Given the description of an element on the screen output the (x, y) to click on. 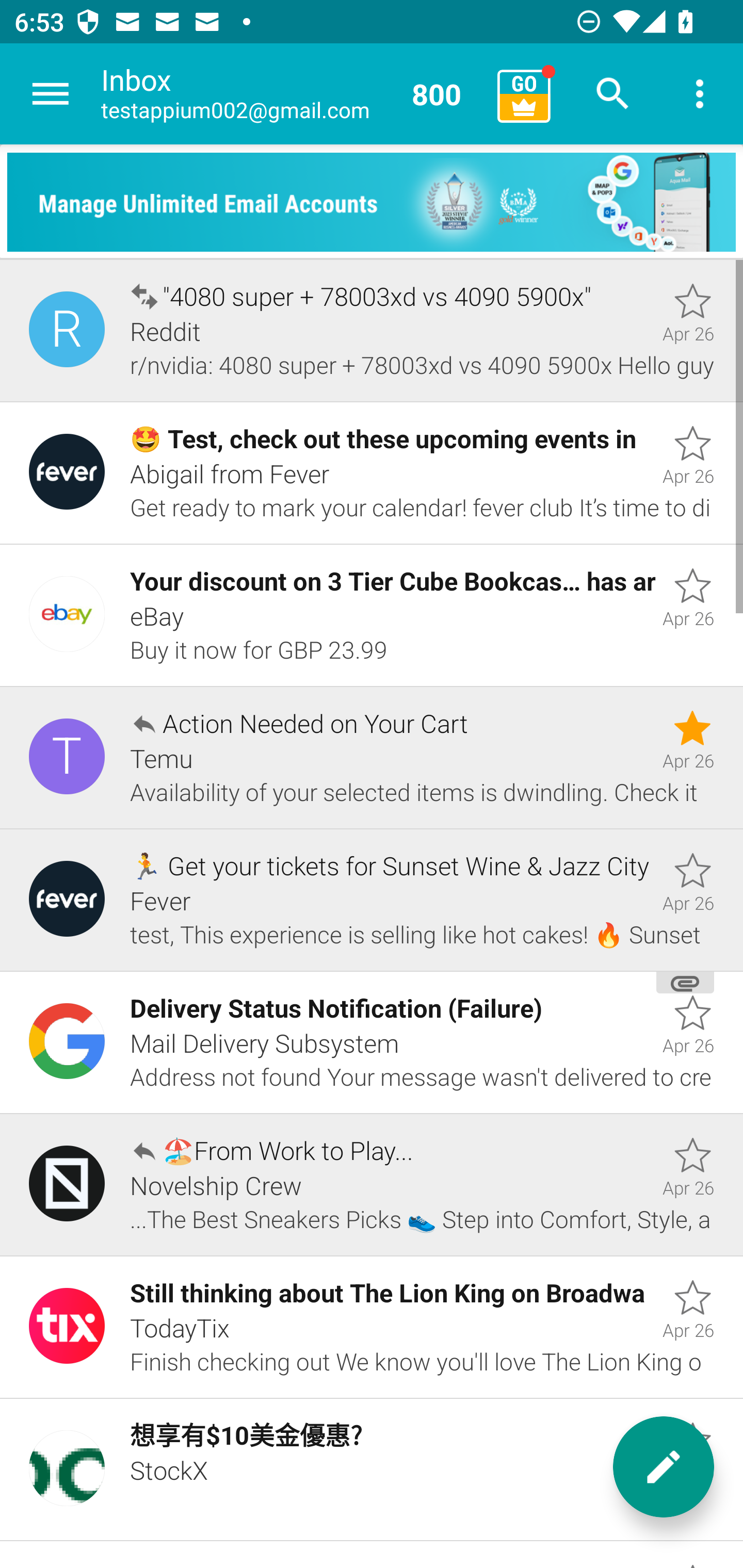
Navigate up (50, 93)
Inbox testappium002@gmail.com 800 (291, 93)
Search (612, 93)
More options (699, 93)
Unread, 想享有$10美金優惠?, StockX, Apr 26 (371, 1469)
New message (663, 1466)
